Given the description of an element on the screen output the (x, y) to click on. 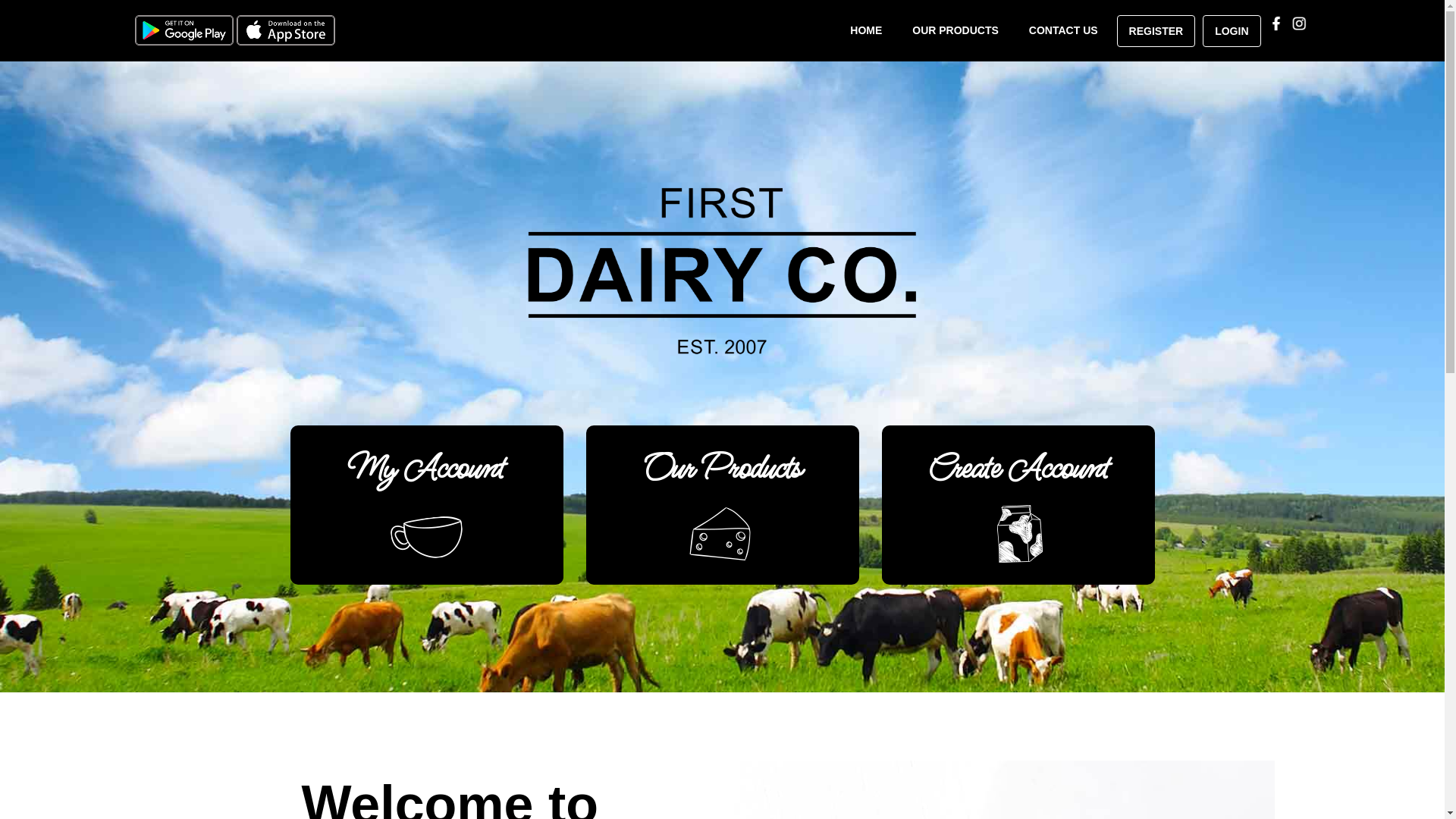
Create Account Element type: text (1017, 504)
HOME Element type: text (865, 30)
OUR PRODUCTS Element type: text (955, 30)
EasyVend Ordering App IOS Element type: hover (285, 28)
My Account Element type: text (425, 504)
CONTACT US Element type: text (1063, 30)
EasyVend Ordering App Android Element type: hover (183, 28)
Our Products Element type: text (721, 504)
REGISTER Element type: text (1156, 31)
LOGIN Element type: text (1231, 31)
